Given the description of an element on the screen output the (x, y) to click on. 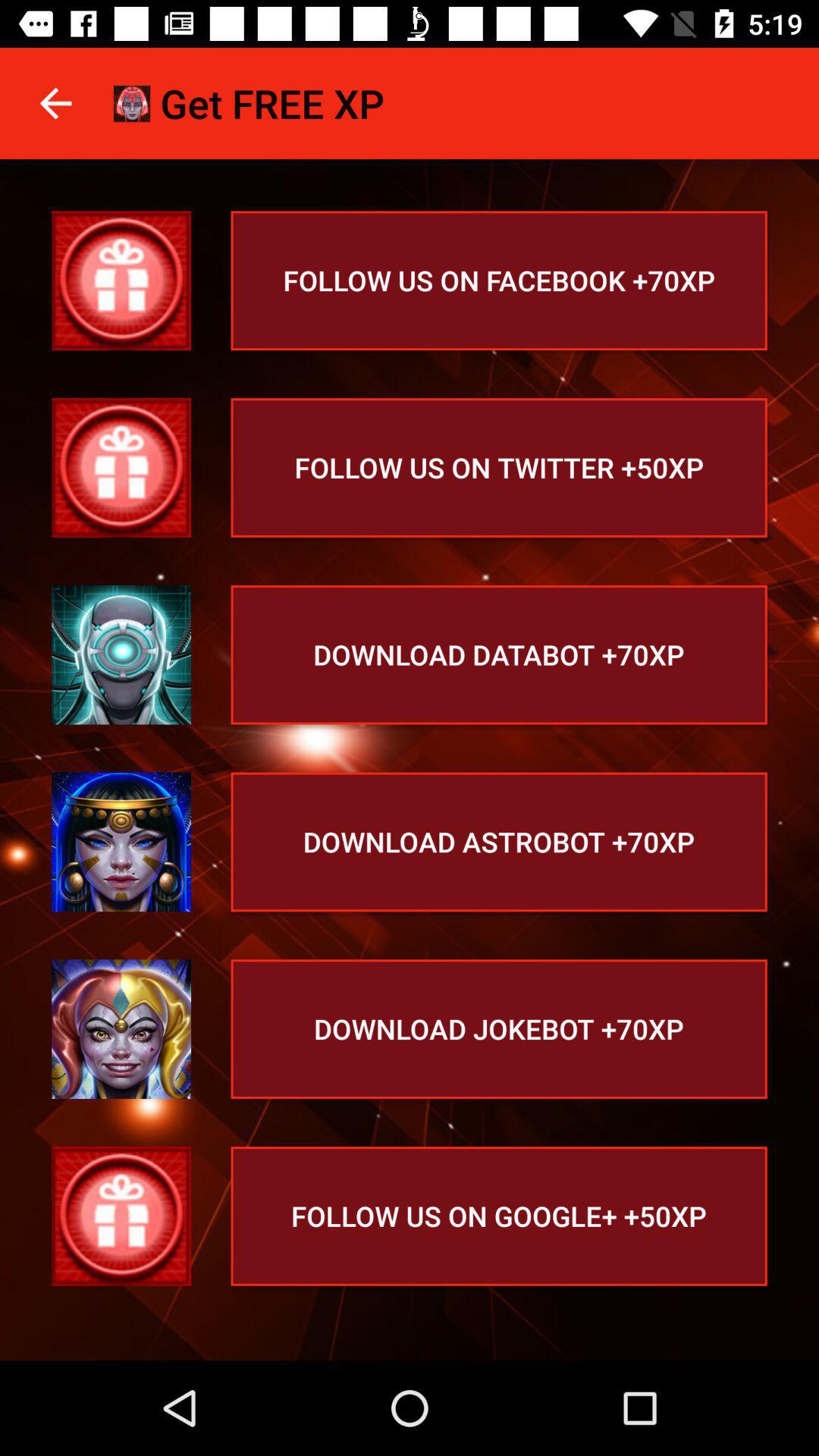
this is your avatar which lets people see who you want them to see (121, 1028)
